Given the description of an element on the screen output the (x, y) to click on. 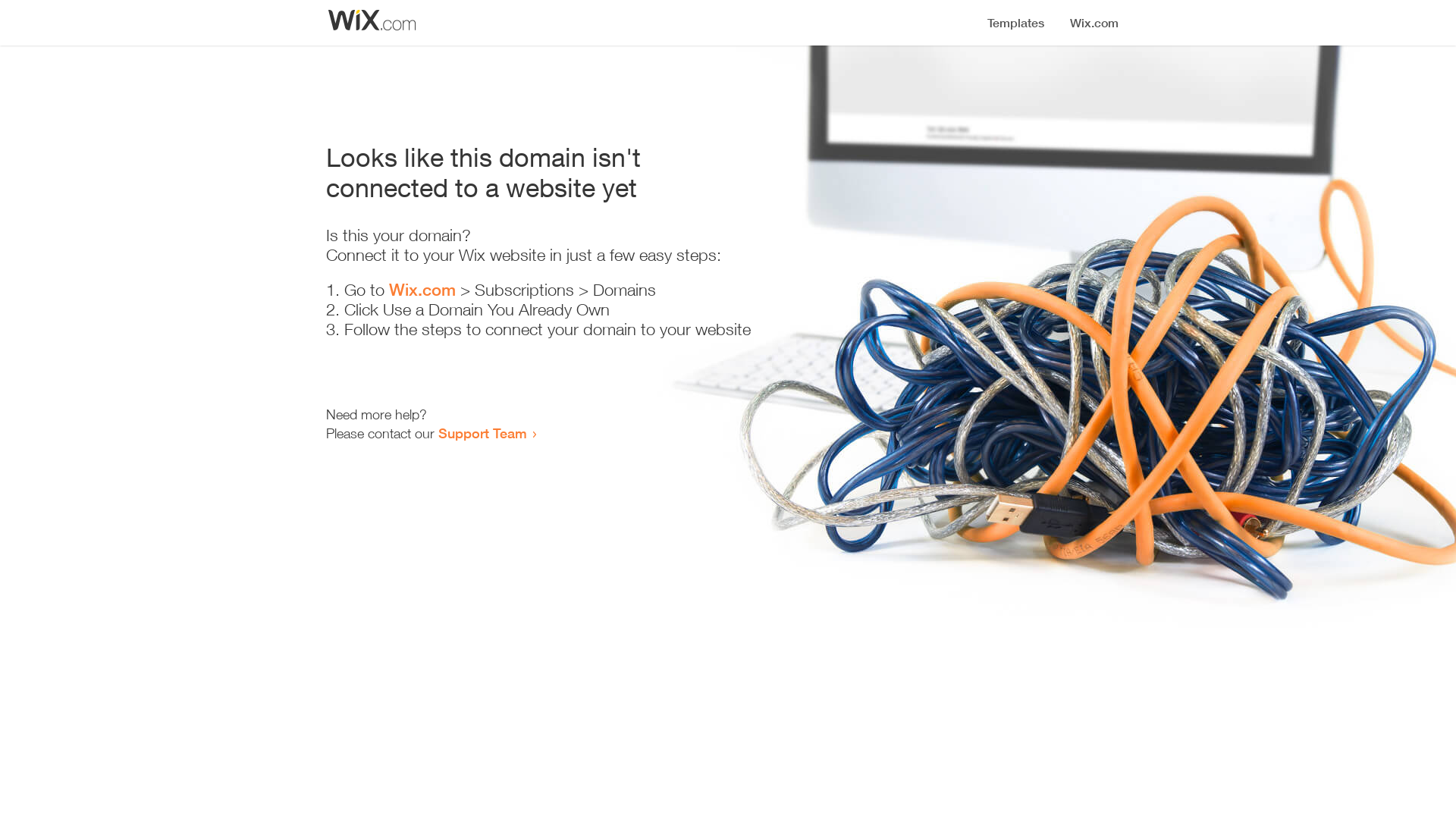
Wix.com Element type: text (422, 289)
Support Team Element type: text (482, 432)
